Given the description of an element on the screen output the (x, y) to click on. 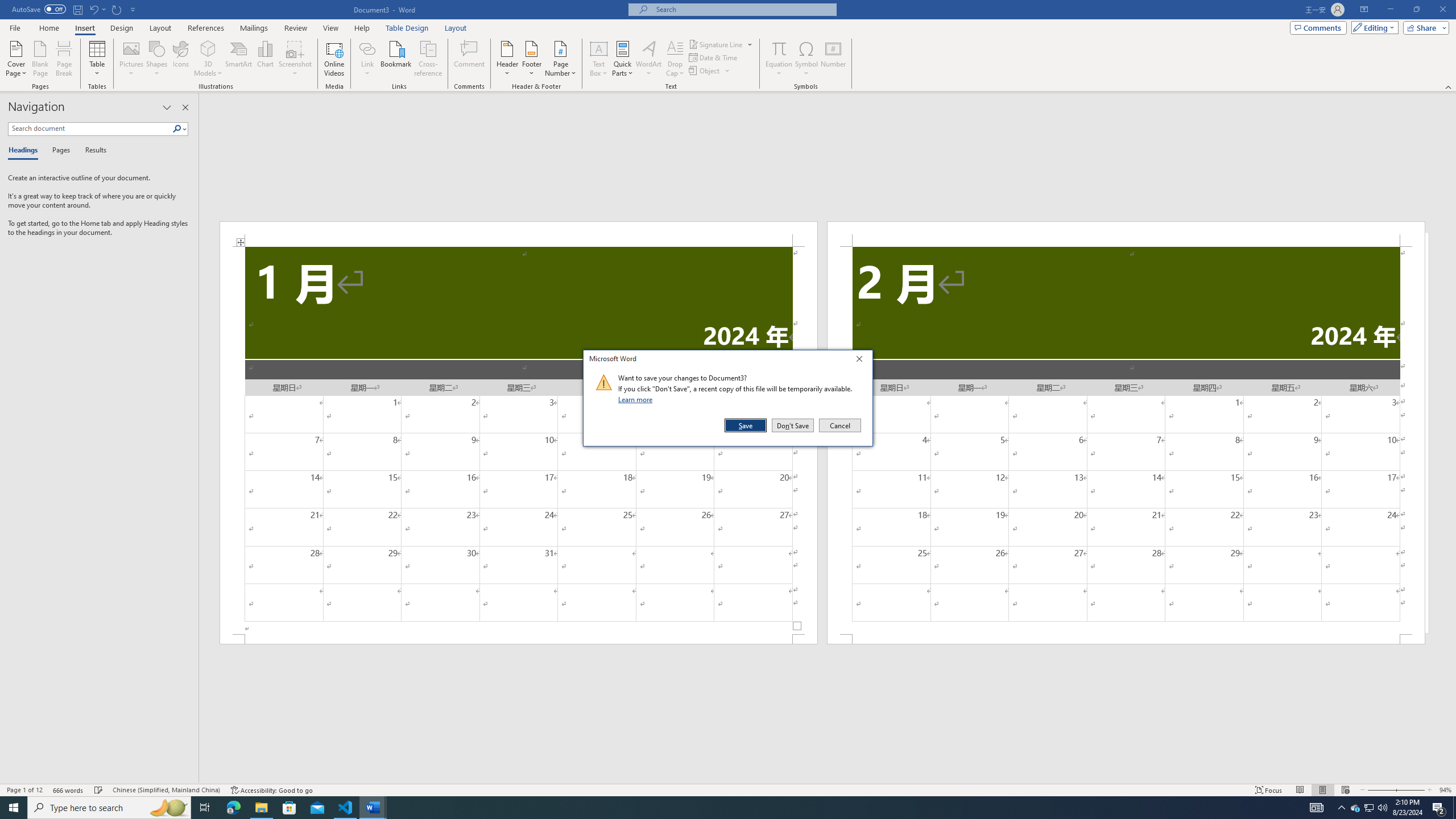
Blank Page (40, 58)
Page Number Page 1 of 12 (24, 790)
Page Number (560, 58)
Header -Section 2- (1126, 233)
Table (97, 58)
Footer -Section 2- (1126, 638)
Date & Time... (714, 56)
